Given the description of an element on the screen output the (x, y) to click on. 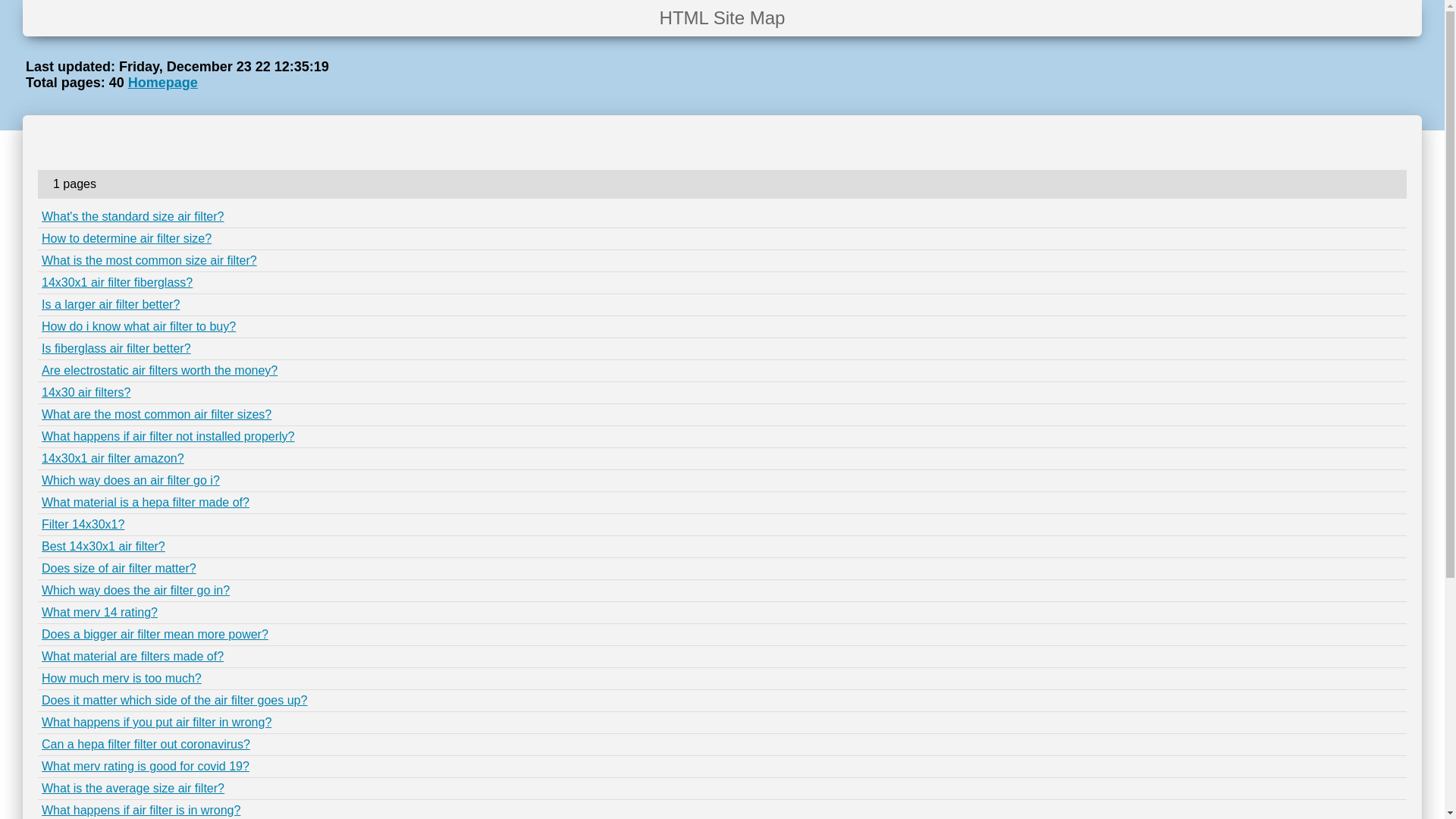
Does it matter which side of the air filter goes up? Element type: text (174, 699)
Is a larger air filter better? Element type: text (110, 304)
14x30x1 air filter amazon? Element type: text (112, 457)
What is the average size air filter? Element type: text (132, 787)
What's the standard size air filter? Element type: text (132, 216)
1 Element type: text (1394, 145)
14x30 air filters? Element type: text (85, 391)
Can a hepa filter filter out coronavirus? Element type: text (145, 743)
Does size of air filter matter? Element type: text (118, 567)
What material is a hepa filter made of? Element type: text (145, 501)
What merv rating is good for covid 19? Element type: text (145, 765)
How much merv is too much? Element type: text (121, 677)
What material are filters made of? Element type: text (132, 655)
What is the most common size air filter? Element type: text (149, 260)
Which way does the air filter go in? Element type: text (135, 589)
Filter 14x30x1? Element type: text (82, 523)
Homepage Element type: text (162, 82)
What happens if you put air filter in wrong? Element type: text (156, 721)
What happens if air filter not installed properly? Element type: text (167, 435)
14x30x1 air filter fiberglass? Element type: text (116, 282)
How to determine air filter size? Element type: text (126, 238)
Is fiberglass air filter better? Element type: text (116, 348)
Does a bigger air filter mean more power? Element type: text (154, 633)
Which way does an air filter go i? Element type: text (130, 479)
What happens if air filter is in wrong? Element type: text (140, 809)
Are electrostatic air filters worth the money? Element type: text (159, 370)
What merv 14 rating? Element type: text (99, 611)
What are the most common air filter sizes? Element type: text (156, 413)
How do i know what air filter to buy? Element type: text (138, 326)
Best 14x30x1 air filter? Element type: text (103, 545)
